Given the description of an element on the screen output the (x, y) to click on. 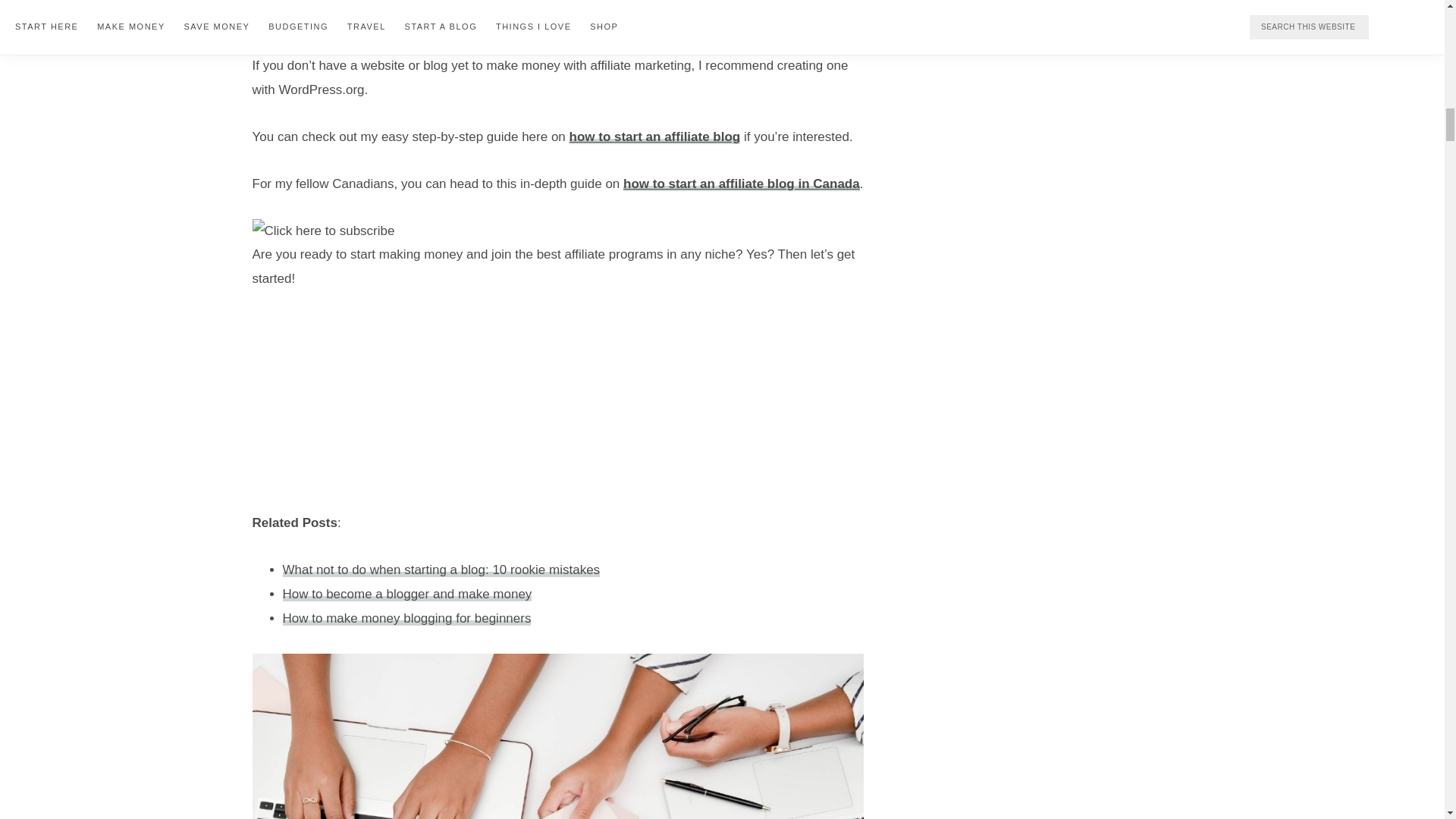
how to start an affiliate blog (655, 136)
how to start an affiliate blog in Canada (741, 183)
How to become a blogger and make money (406, 594)
What not to do when starting a blog: 10 rookie mistakes (440, 569)
How to make money blogging for beginners (406, 617)
